Given the description of an element on the screen output the (x, y) to click on. 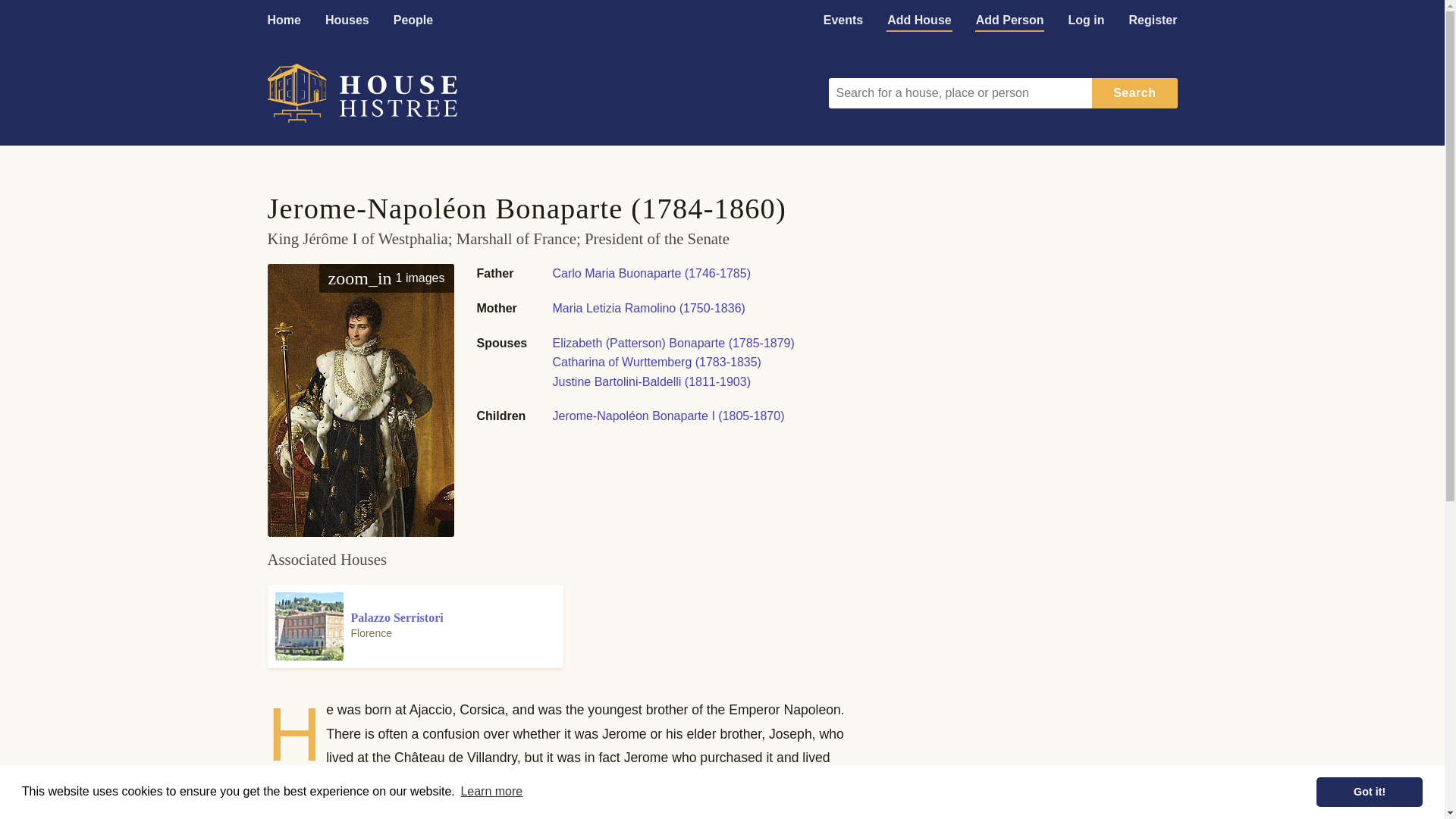
People (413, 20)
Palazzo Serristori (711, 781)
Add House (918, 20)
Got it! (1369, 791)
Log in (1085, 20)
Register (1152, 20)
Search (1134, 92)
Palazzo Serristori (414, 626)
Home (283, 20)
Events (842, 20)
